Given the description of an element on the screen output the (x, y) to click on. 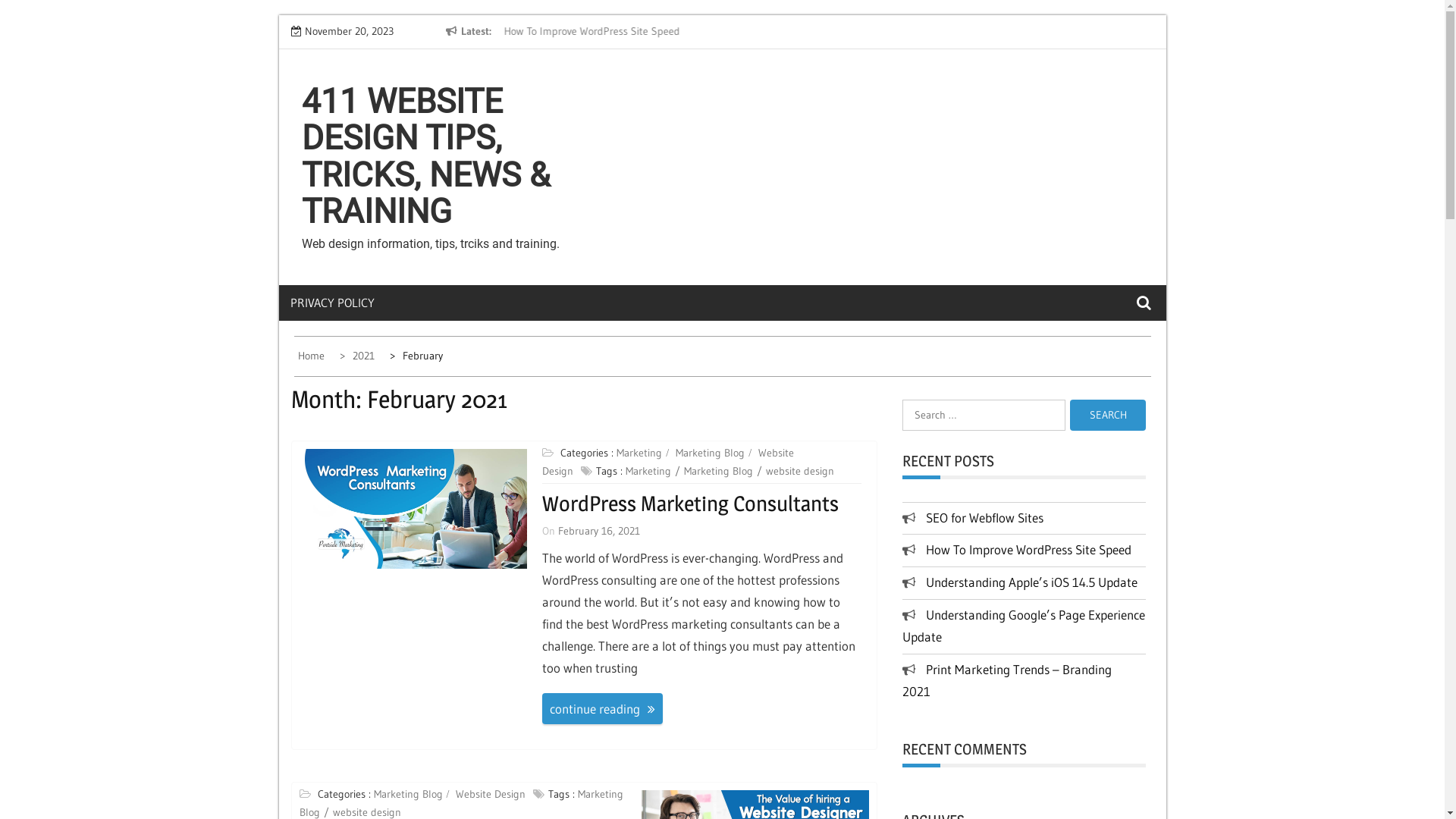
SEO for Webflow Sites Element type: text (984, 517)
PRIVACY POLICY Element type: text (350, 302)
Search Element type: text (1107, 414)
Website Design Element type: text (667, 461)
411 WEBSITE DESIGN TIPS, TRICKS, NEWS & TRAINING Element type: text (425, 156)
Skip to content Element type: text (277, 14)
Marketing Element type: text (652, 470)
continue reading Element type: text (602, 708)
Website Design Element type: text (492, 793)
February 16, 2021 Element type: text (599, 530)
website design Element type: text (801, 470)
Marketing Element type: text (642, 452)
Marketing Blog Element type: text (713, 452)
How To Improve WordPress Site Speed Element type: text (627, 30)
Home Element type: text (312, 355)
Marketing Blog Element type: text (723, 470)
Marketing Blog Element type: text (410, 793)
WordPress Marketing Consultants Element type: text (690, 503)
2021 Element type: text (358, 355)
How To Improve WordPress Site Speed Element type: text (1028, 549)
